Given the description of an element on the screen output the (x, y) to click on. 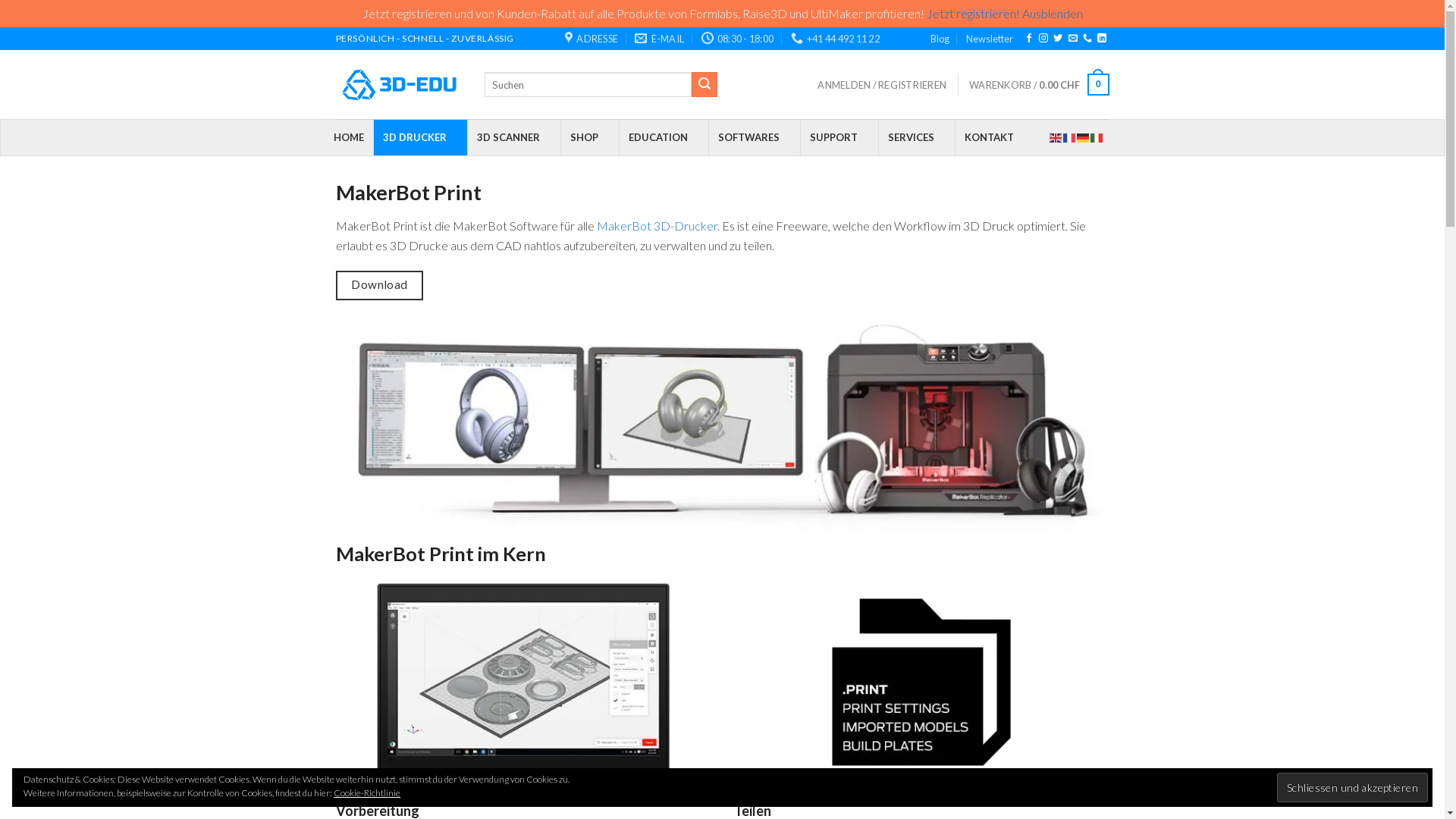
MakerBot 3D-Drucker Element type: text (656, 225)
English Element type: hover (1056, 136)
HOME Element type: text (348, 137)
Italiano Element type: hover (1097, 136)
Auf Facebook folgen Element type: hover (1028, 38)
Deutsch Element type: hover (1083, 136)
Ausblenden Element type: text (1052, 13)
SOFTWARES Element type: text (754, 137)
ADRESSE Element type: text (591, 38)
Blog Element type: text (939, 38)
Auf Linkedin folgen Element type: hover (1101, 38)
Download Element type: text (379, 285)
KONTAKT Element type: text (993, 137)
Jetzt registrieren! Element type: text (972, 13)
+41 44 492 11 22 Element type: text (834, 38)
Rufe uns an Element type: hover (1087, 38)
Newsletter Element type: text (989, 38)
Auf Instagram folgen Element type: hover (1043, 38)
WARENKORB / 0.00 CHF
0 Element type: text (1038, 84)
Cookie-Richtlinie Element type: text (366, 792)
SUPPORT Element type: text (838, 137)
3D DRUCKER Element type: text (420, 137)
EDUCATION Element type: text (663, 137)
ANMELDEN / REGISTRIEREN Element type: text (881, 84)
Sende uns eine E-Mail Element type: hover (1072, 38)
E-MAIL Element type: text (659, 38)
SHOP Element type: text (588, 137)
Auf Twitter folgen Element type: hover (1057, 38)
3D SCANNER Element type: text (513, 137)
Schliessen und akzeptieren Element type: text (1352, 787)
Suche Element type: text (704, 84)
08:30 - 18:00 Element type: text (737, 38)
SERVICES Element type: text (916, 137)
